Given the description of an element on the screen output the (x, y) to click on. 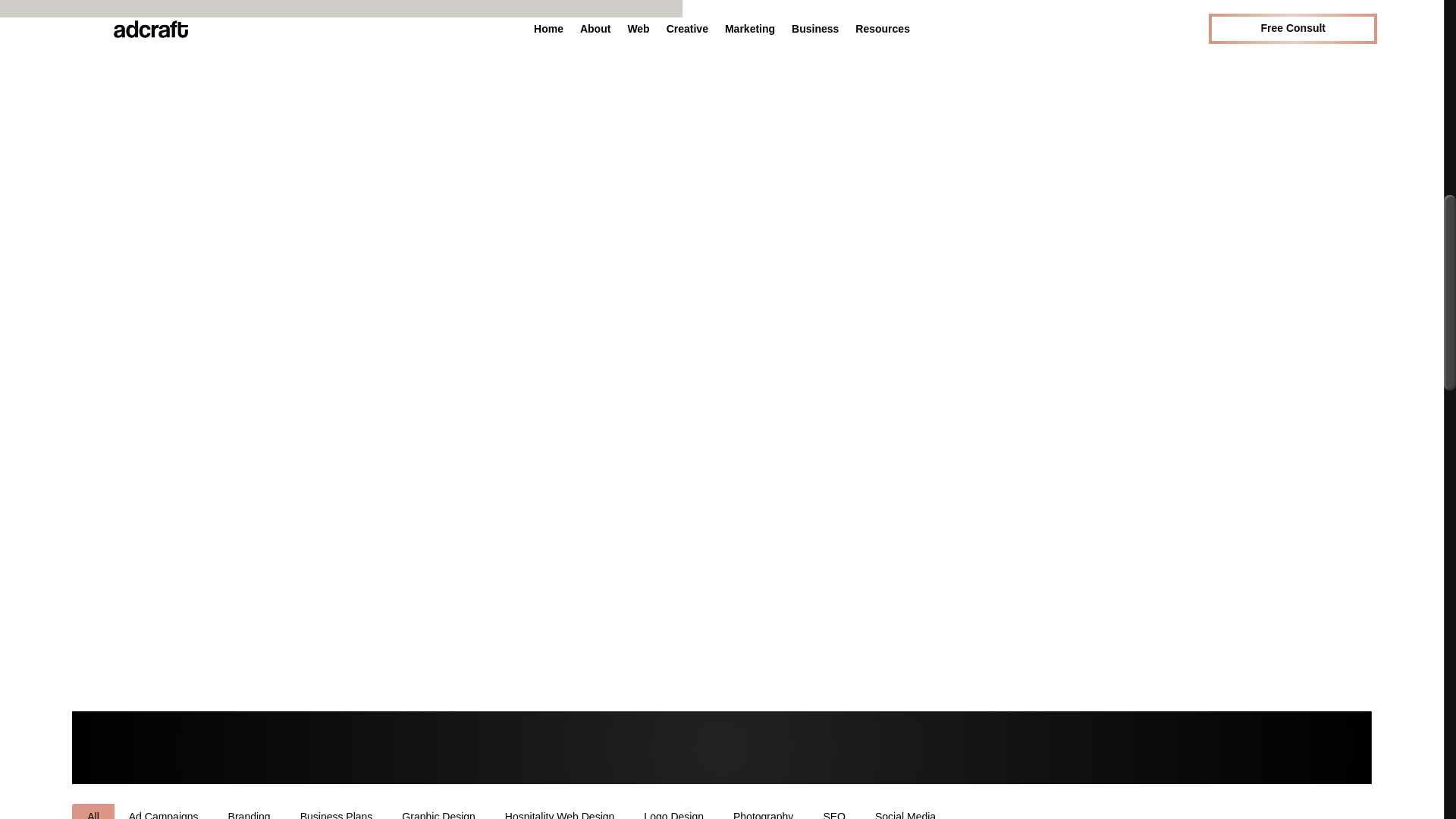
SEO for Psychologist (341, 8)
